Given the description of an element on the screen output the (x, y) to click on. 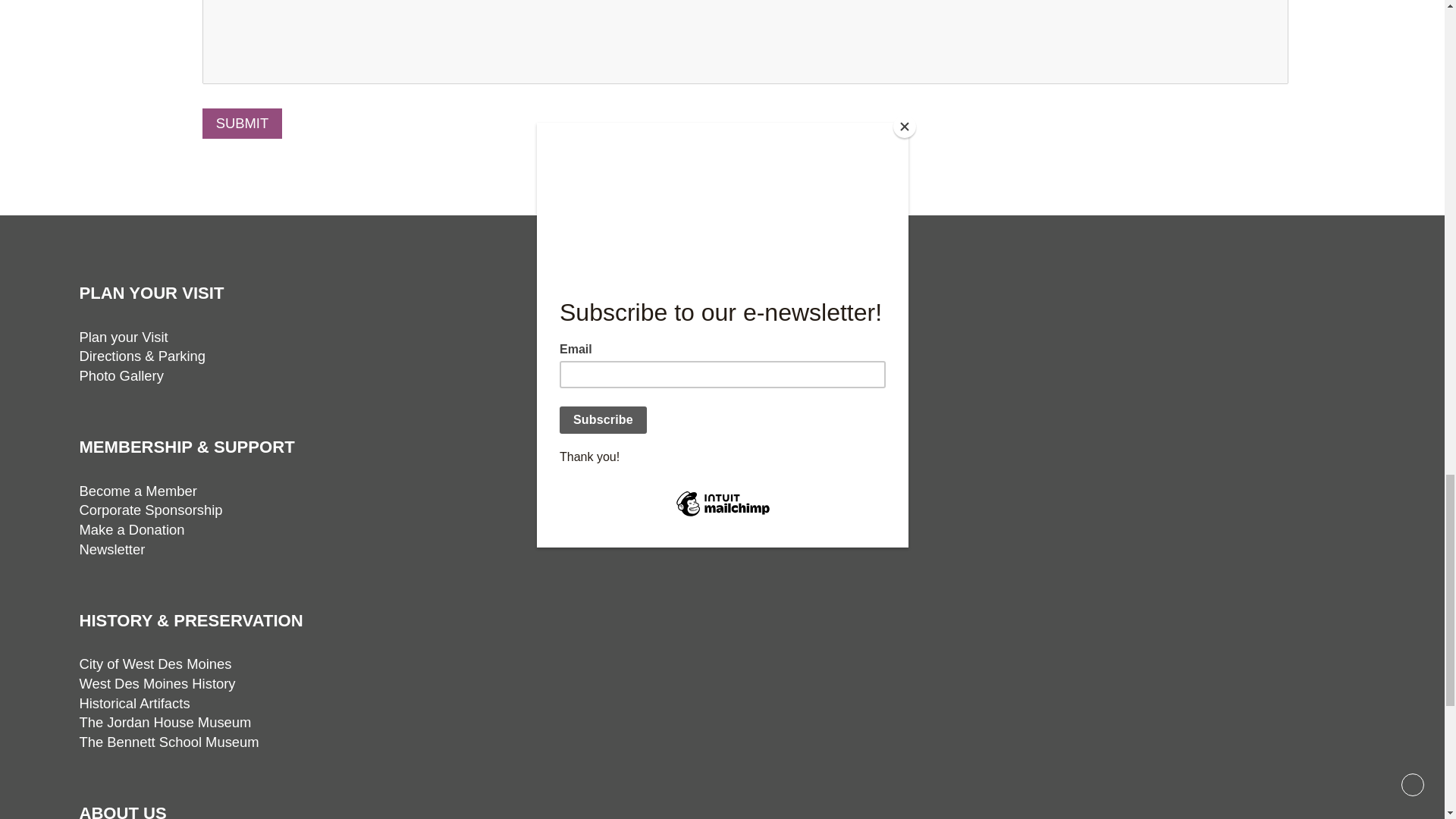
Submit (242, 123)
